Given the description of an element on the screen output the (x, y) to click on. 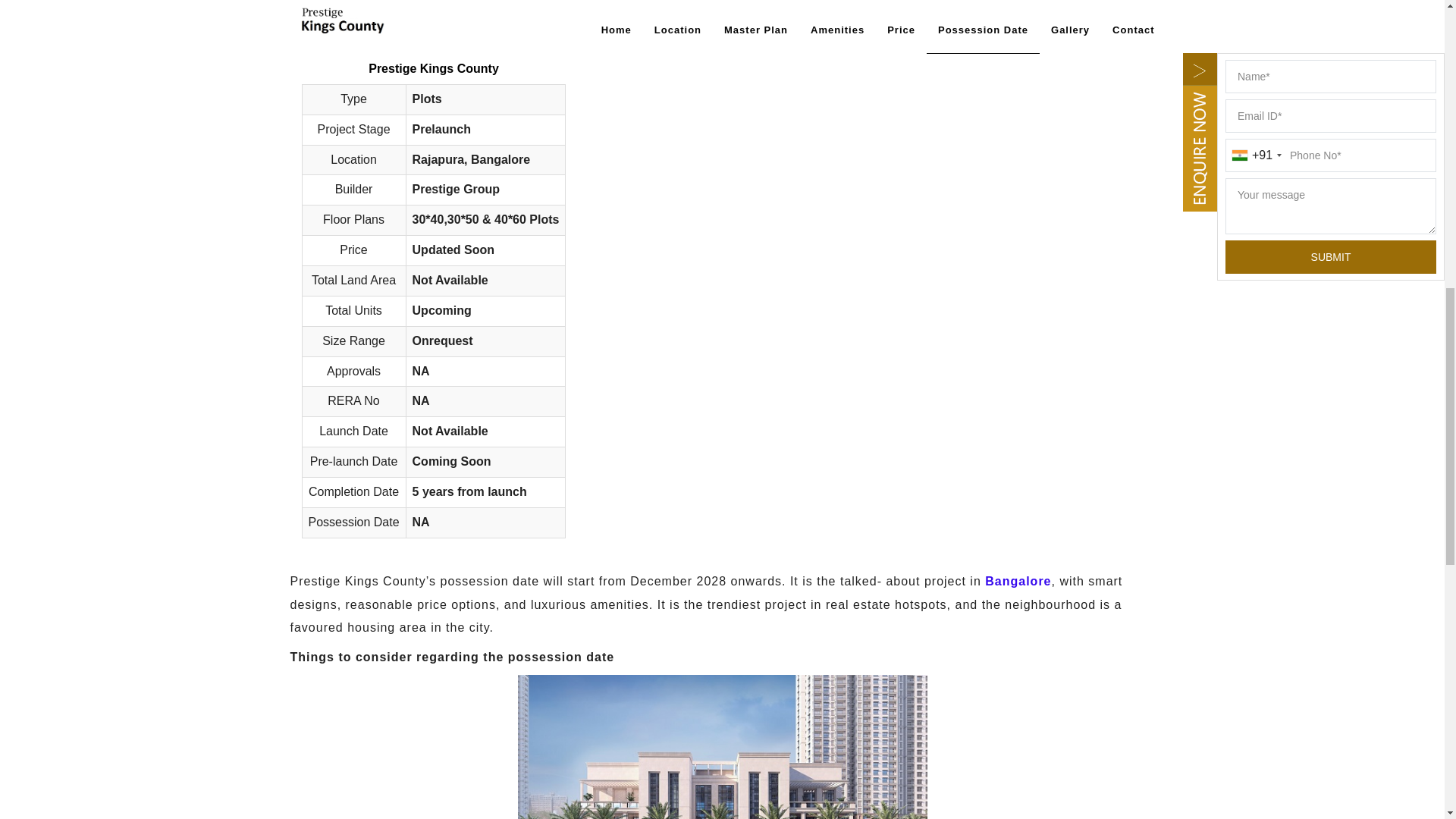
Bangalore (1018, 581)
Bangalore (1018, 581)
Things to consider Regarding the Possession Date (721, 746)
